Given the description of an element on the screen output the (x, y) to click on. 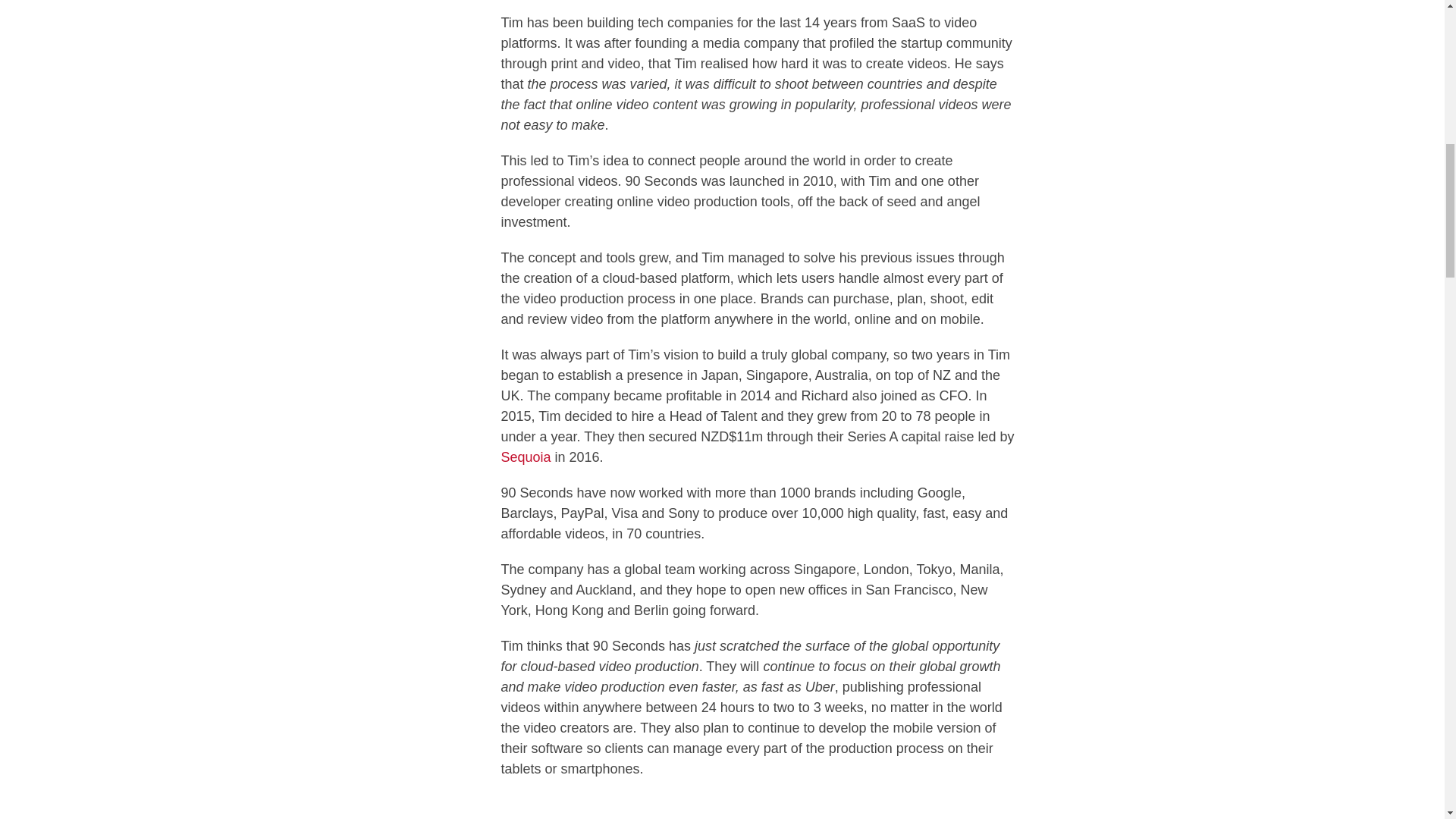
Sequoia (525, 457)
